Given the description of an element on the screen output the (x, y) to click on. 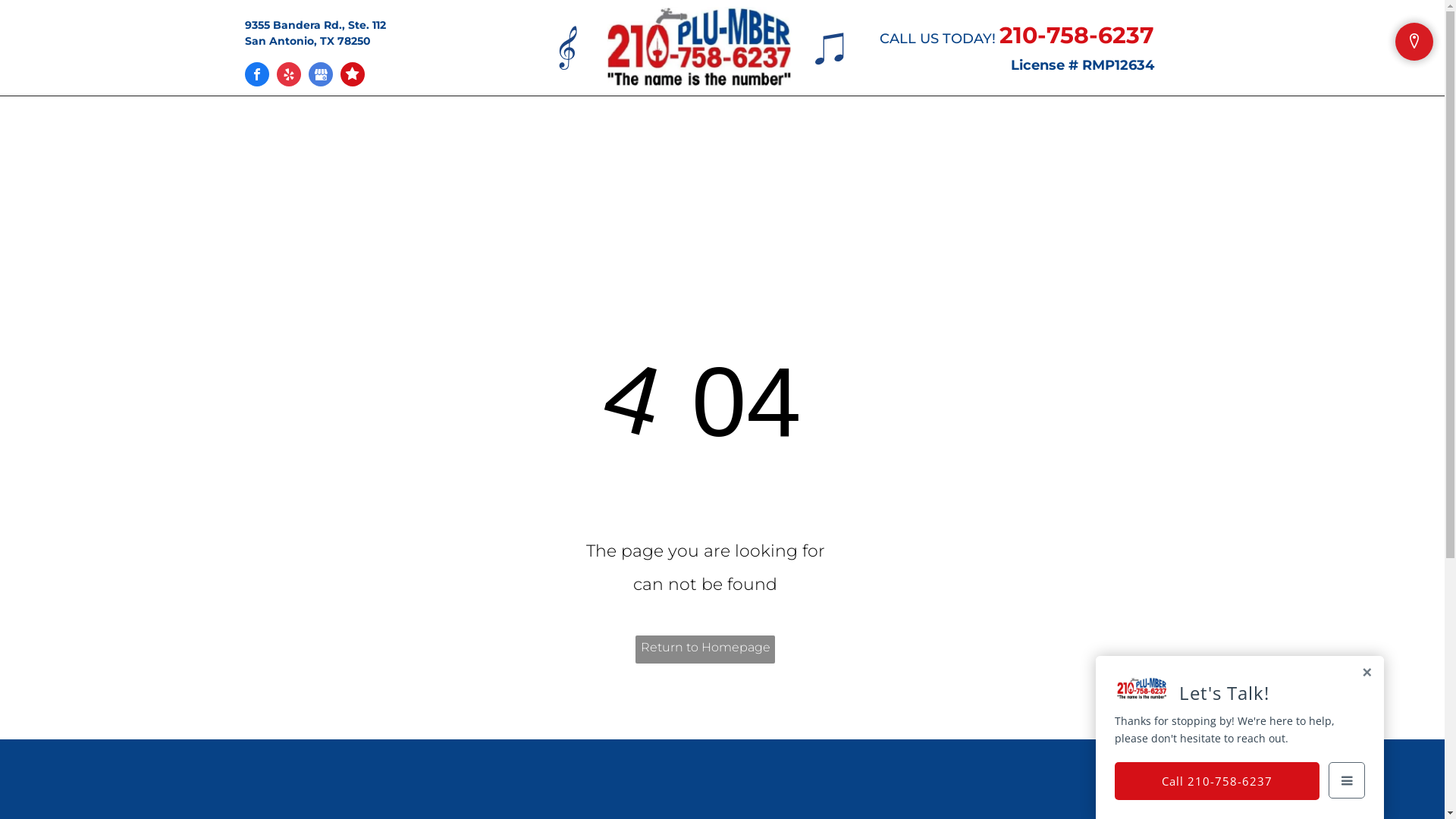
Gallery Element type: text (880, 127)
Plumbing Services Element type: text (626, 127)
About Us Element type: text (483, 127)
Return to Homepage Element type: text (705, 649)
210-758-6237 Element type: text (1076, 35)
Call 210-758-6237 Element type: text (1216, 781)
Contact Us Element type: text (971, 127)
9355 Bandera Rd., Ste. 112 Element type: text (314, 24)
San Antonio, TX 78250 Element type: text (307, 40)
Testimonials Element type: text (783, 127)
Home Element type: text (405, 127)
210-PLUMBER Element type: hover (698, 46)
